Given the description of an element on the screen output the (x, y) to click on. 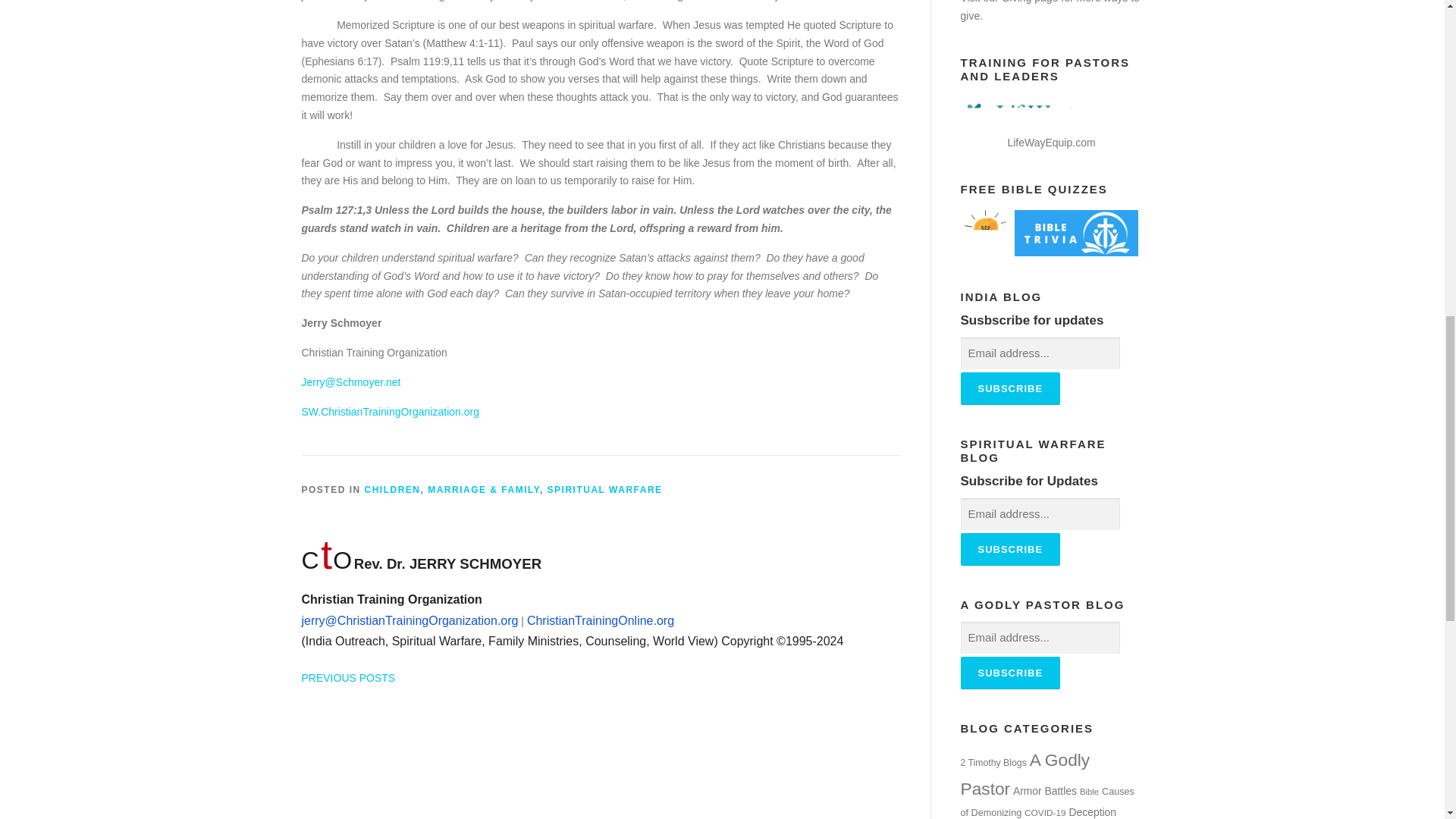
ChristianTrainingOnline.org (599, 621)
Giving (1016, 2)
Subscribe (1009, 549)
Subscribe (1009, 388)
Subscribe (1009, 672)
SPIRITUAL WARFARE (604, 489)
CHILDREN (392, 489)
SW.ChristianTrainingOrganization.org (390, 411)
PREVIOUS POSTS (348, 677)
